Given the description of an element on the screen output the (x, y) to click on. 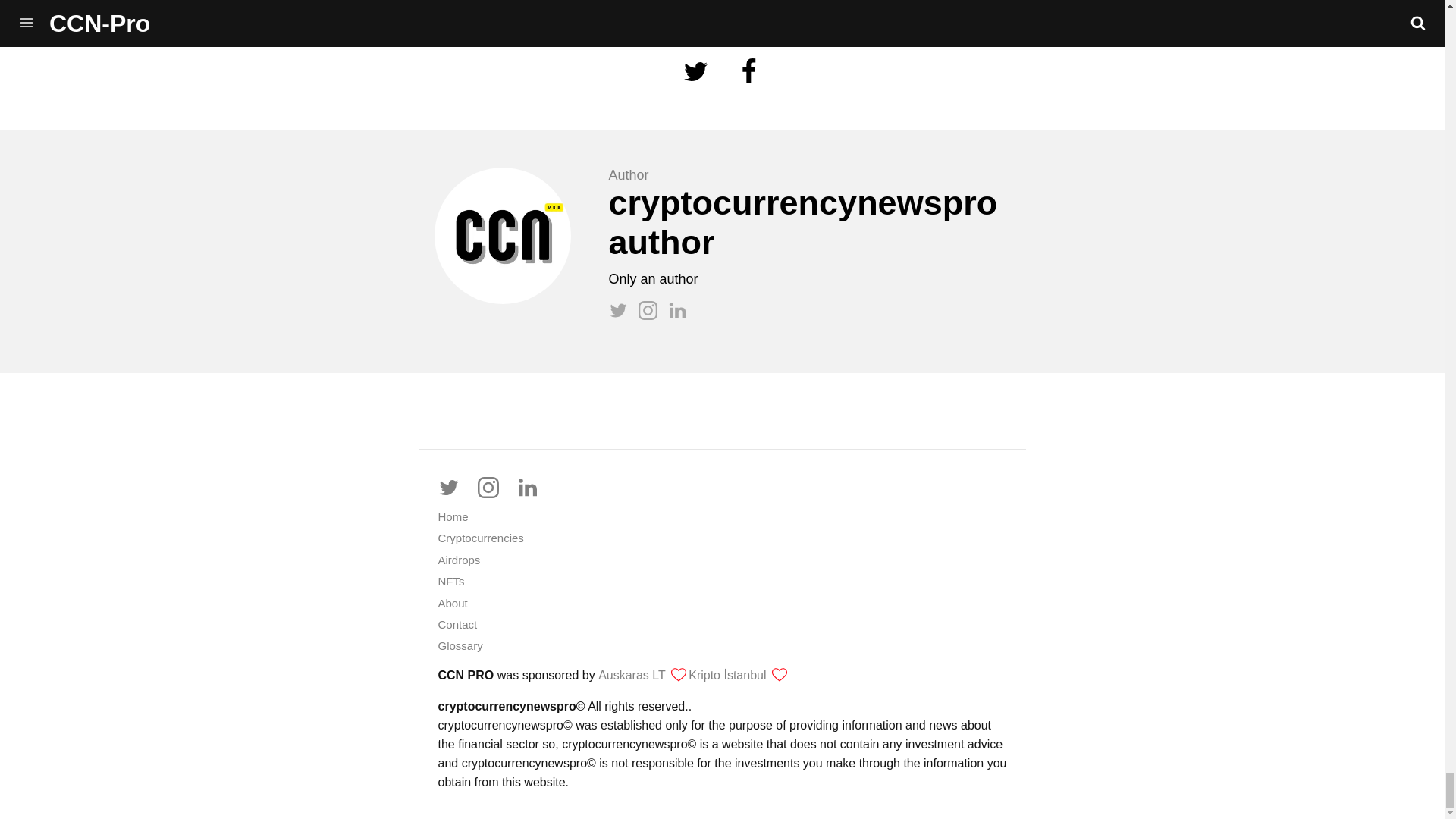
Twitter (622, 315)
LinkedIn (681, 315)
Instagram (653, 315)
NFTs (451, 581)
Cryptocurrencies (481, 537)
LinkedIn (534, 486)
Home (453, 516)
cryptocurrencynewspro author (802, 222)
Twitter (456, 486)
Contact (457, 624)
Share on Twitter (697, 91)
Airdrops (459, 559)
About (452, 603)
Glossary (460, 645)
Instagram (495, 486)
